Given the description of an element on the screen output the (x, y) to click on. 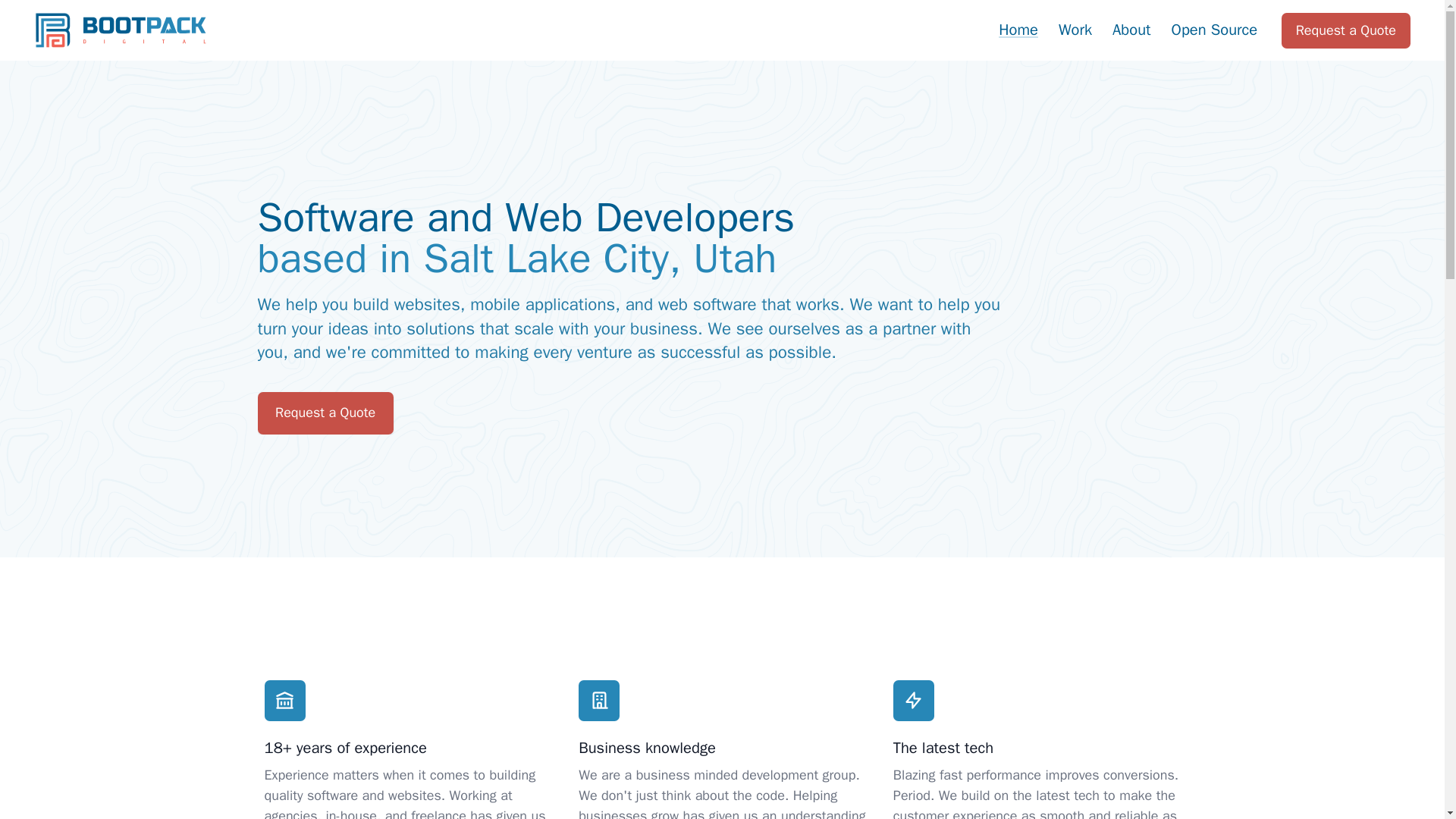
Skip to main content (74, 15)
Request a Quote (1345, 29)
Work (1075, 30)
Open Source (1214, 30)
Home (1018, 30)
Bootpack Digital logo (120, 30)
About (1131, 30)
Request a Quote (325, 412)
